Given the description of an element on the screen output the (x, y) to click on. 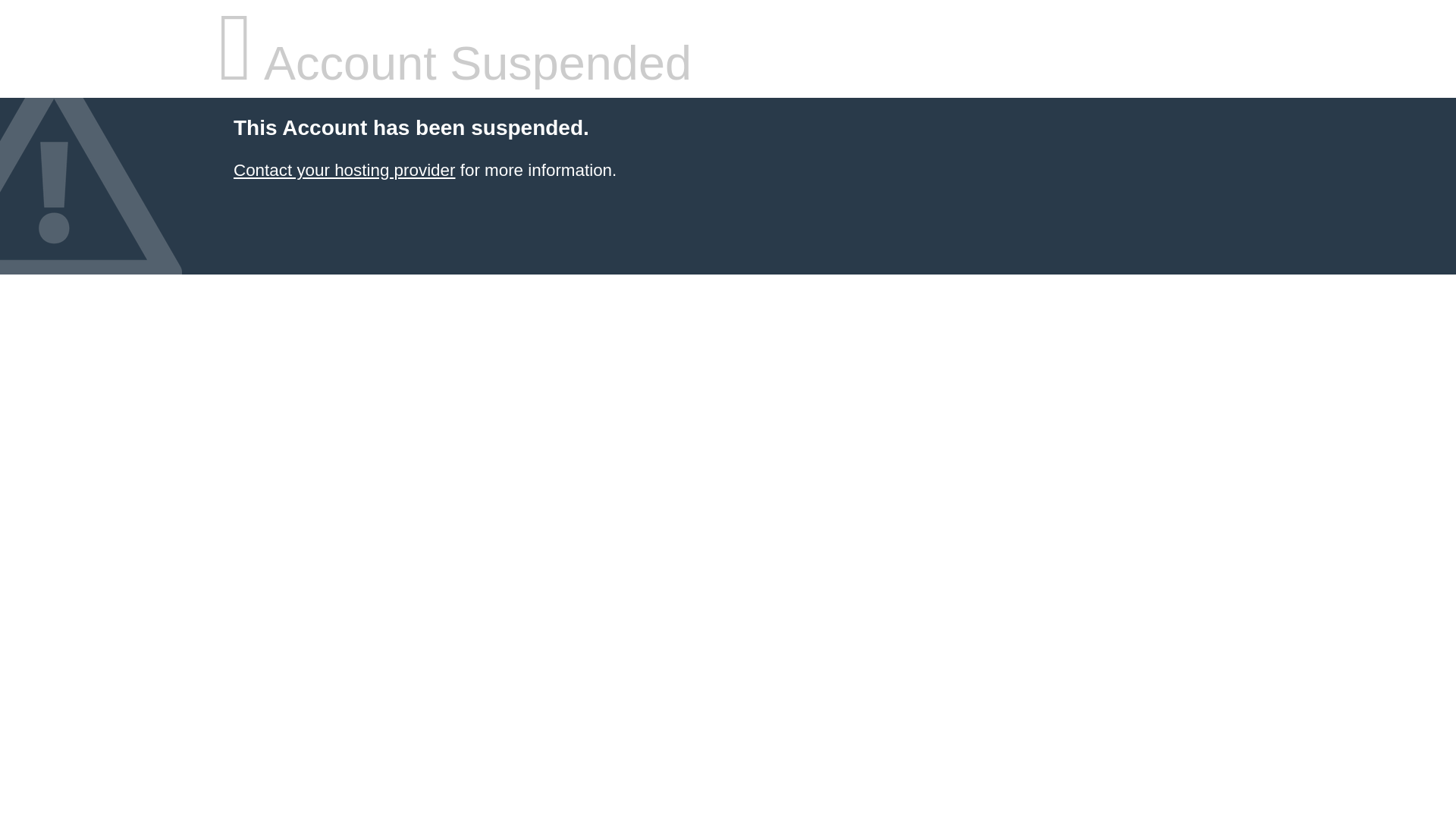
Contact your hosting provider (343, 169)
